Given the description of an element on the screen output the (x, y) to click on. 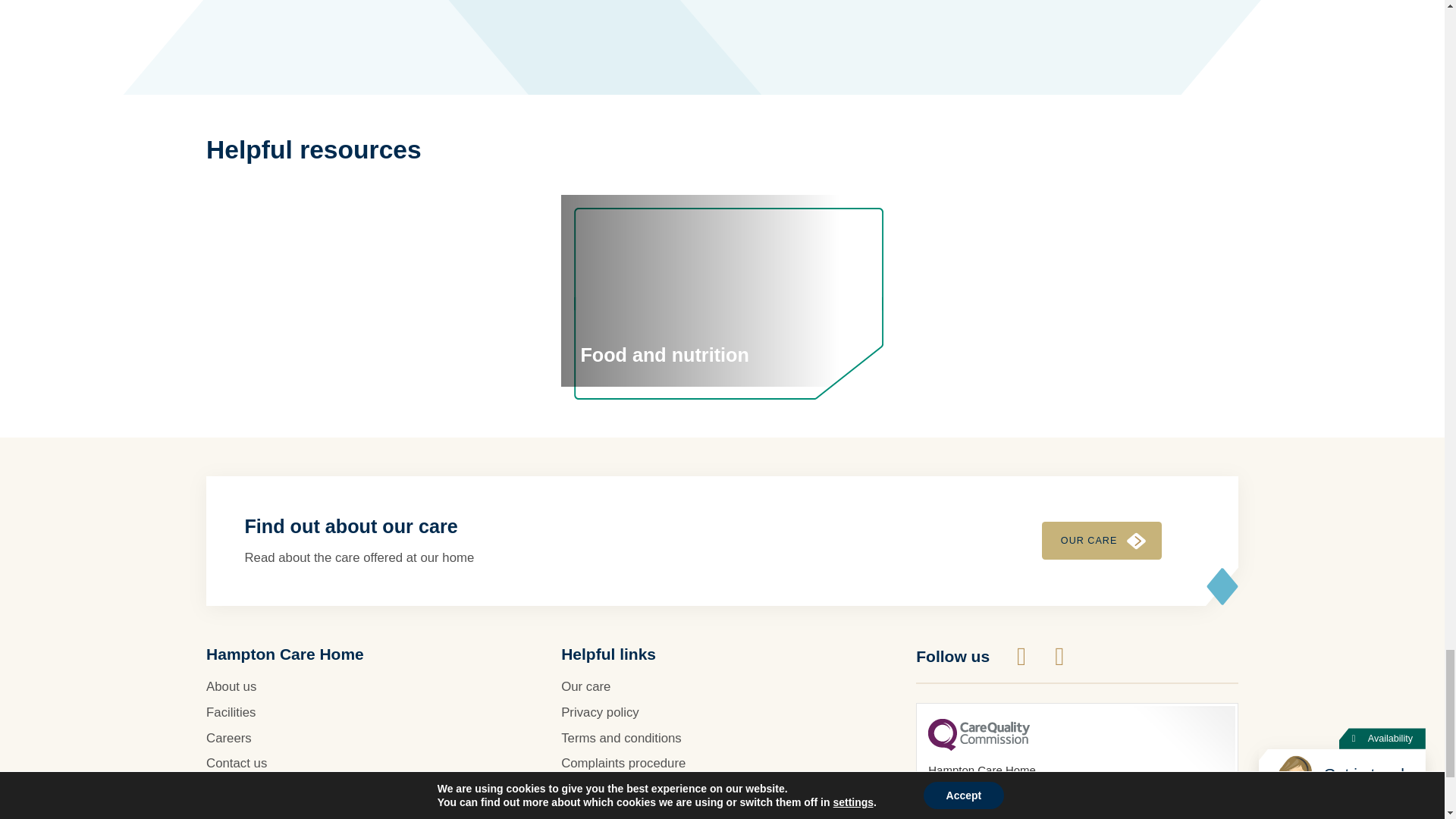
CQC Logo (978, 746)
